Given the description of an element on the screen output the (x, y) to click on. 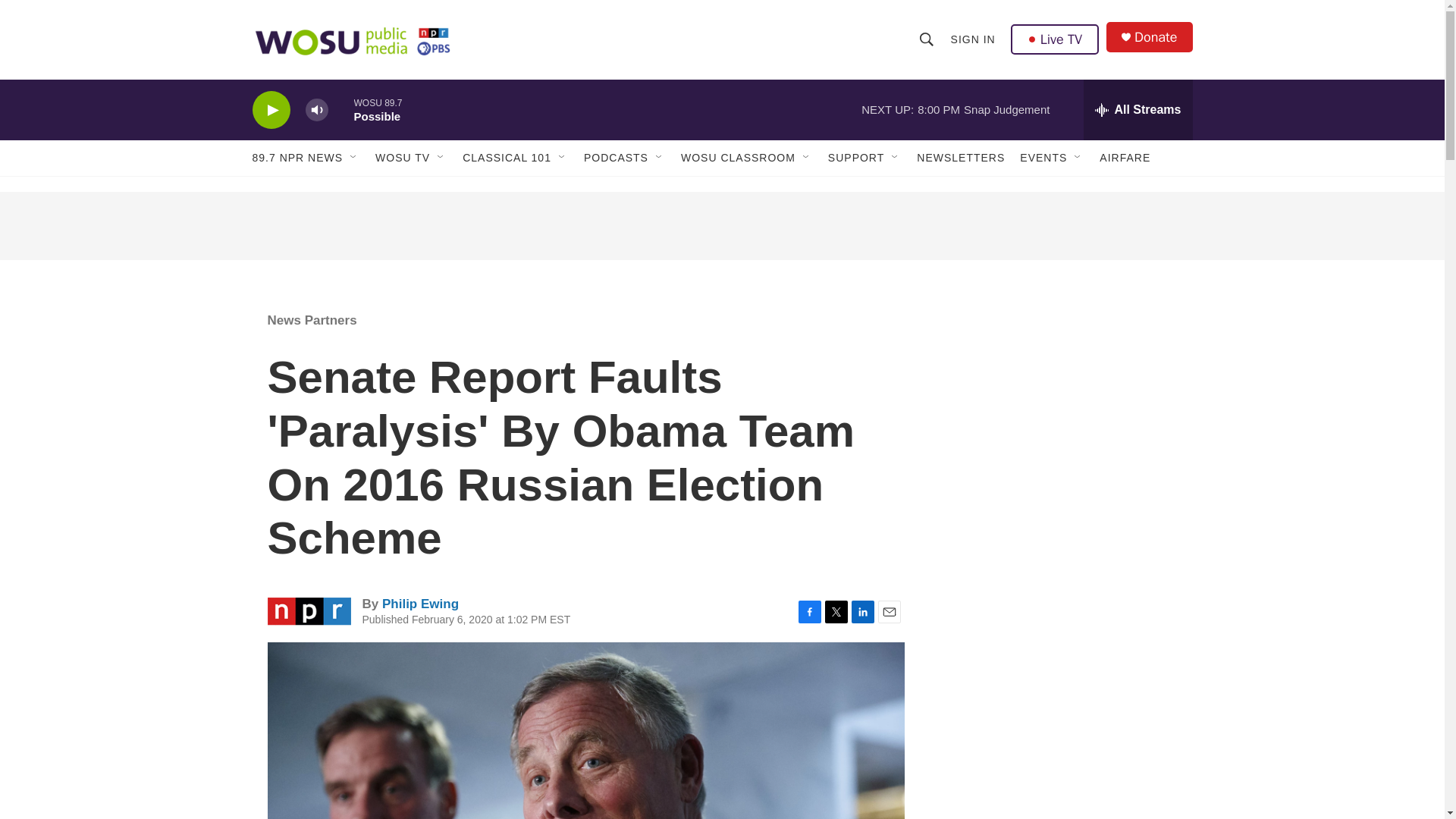
3rd party ad content (1062, 782)
3rd party ad content (1062, 619)
3rd party ad content (721, 225)
3rd party ad content (1062, 400)
